Given the description of an element on the screen output the (x, y) to click on. 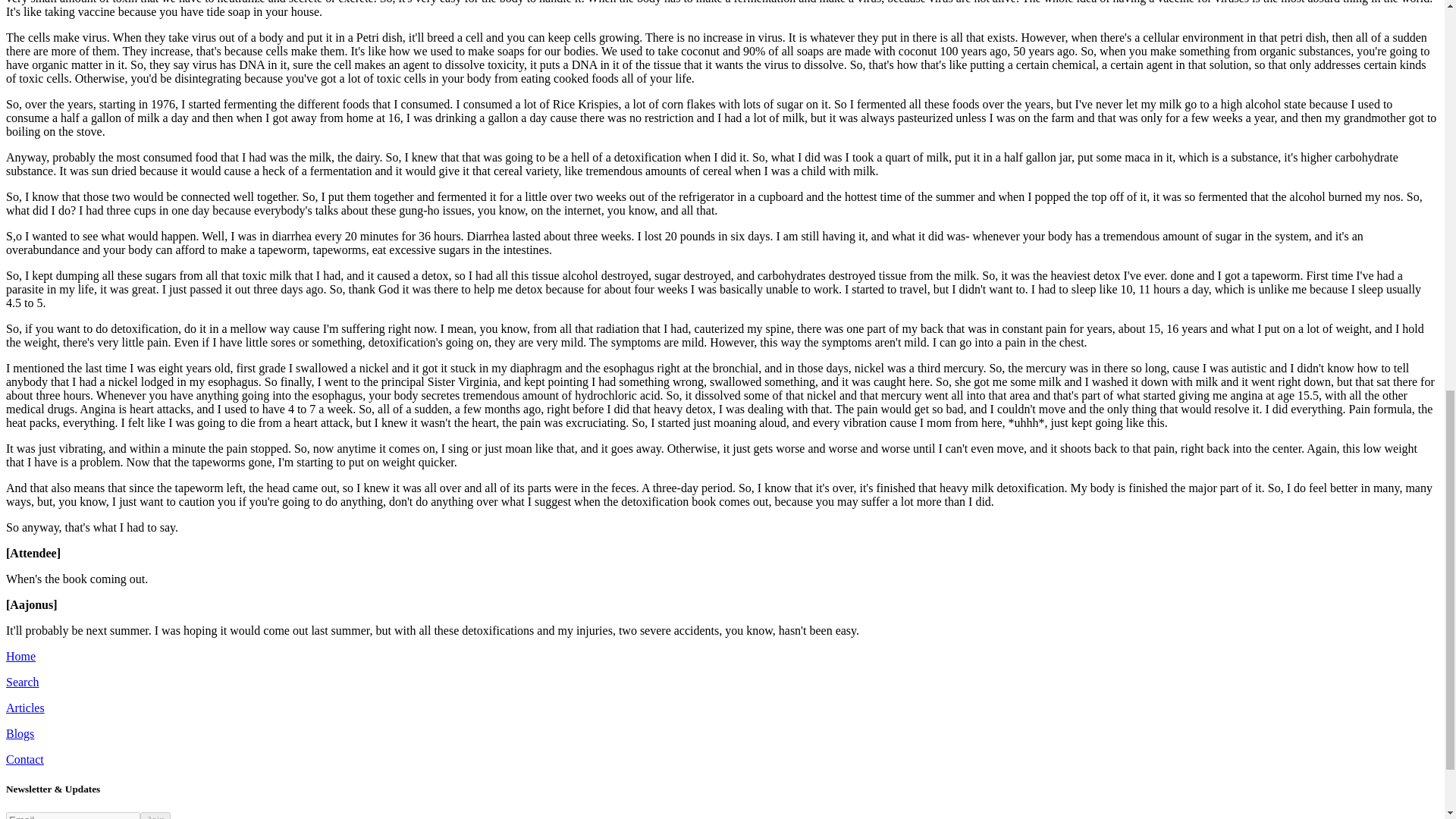
Join (154, 815)
